Given the description of an element on the screen output the (x, y) to click on. 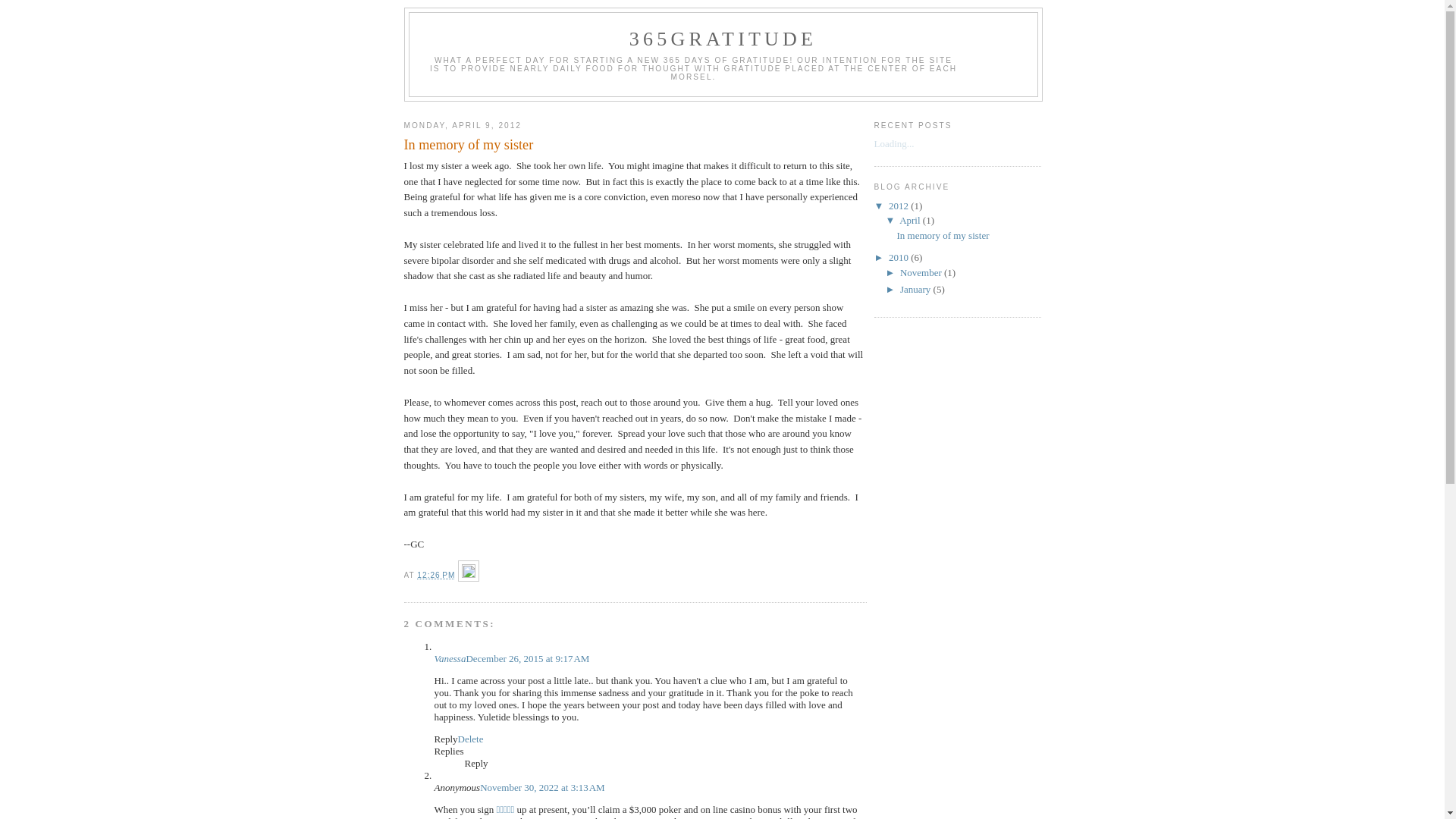
Delete Element type: text (470, 738)
April Element type: text (910, 219)
Vanessa Element type: text (449, 658)
In memory of my sister Element type: text (942, 235)
November Element type: text (922, 272)
Replies Element type: text (448, 750)
Reply Element type: text (445, 738)
2010 Element type: text (899, 257)
Reply Element type: text (475, 762)
In memory of my sister Element type: text (634, 144)
2012 Element type: text (899, 205)
365GRATITUDE Element type: text (722, 39)
Loading... Element type: text (893, 143)
January Element type: text (916, 288)
Edit Post Element type: hover (468, 575)
